Given the description of an element on the screen output the (x, y) to click on. 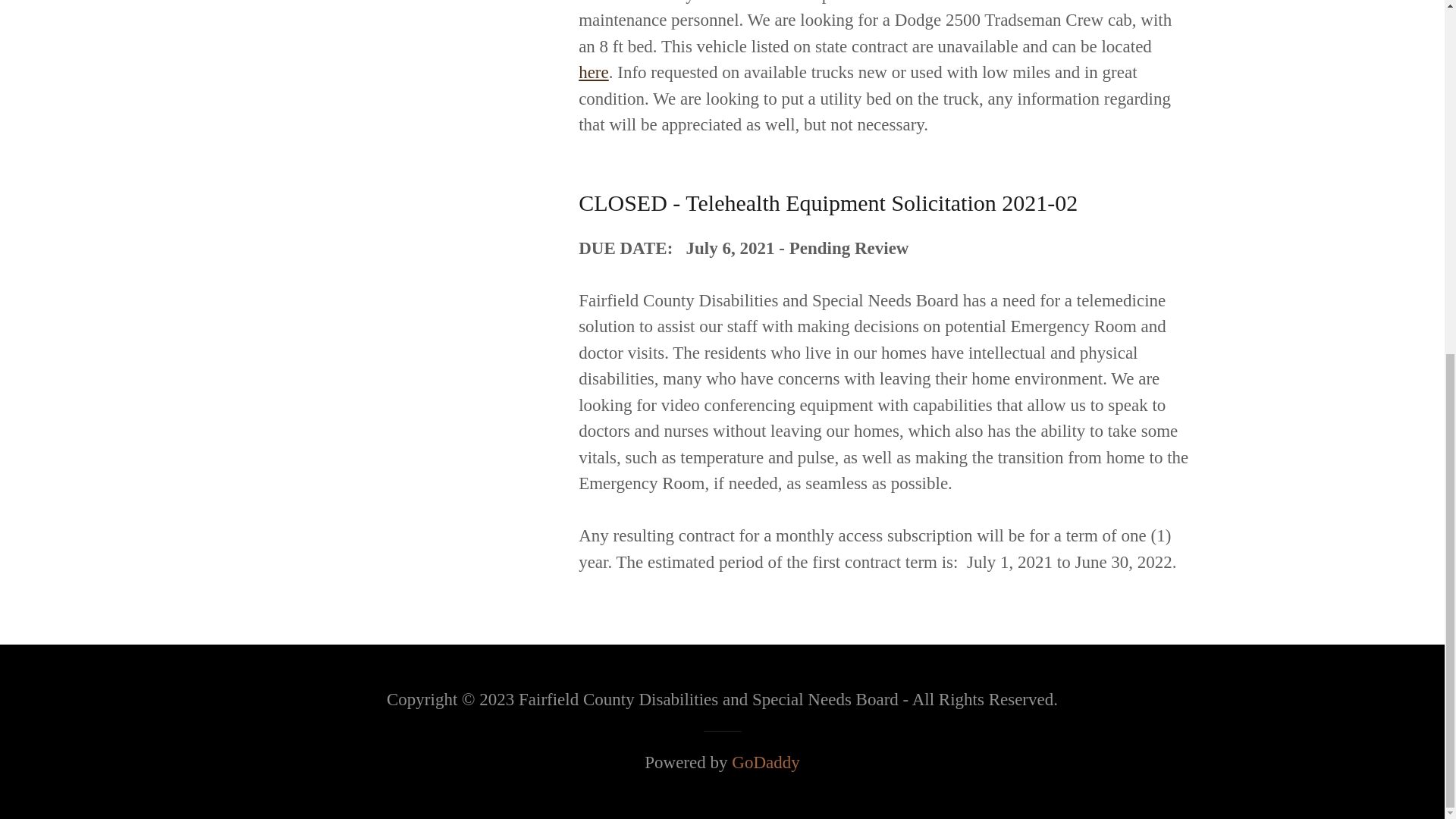
here (593, 72)
GoDaddy (765, 762)
